Given the description of an element on the screen output the (x, y) to click on. 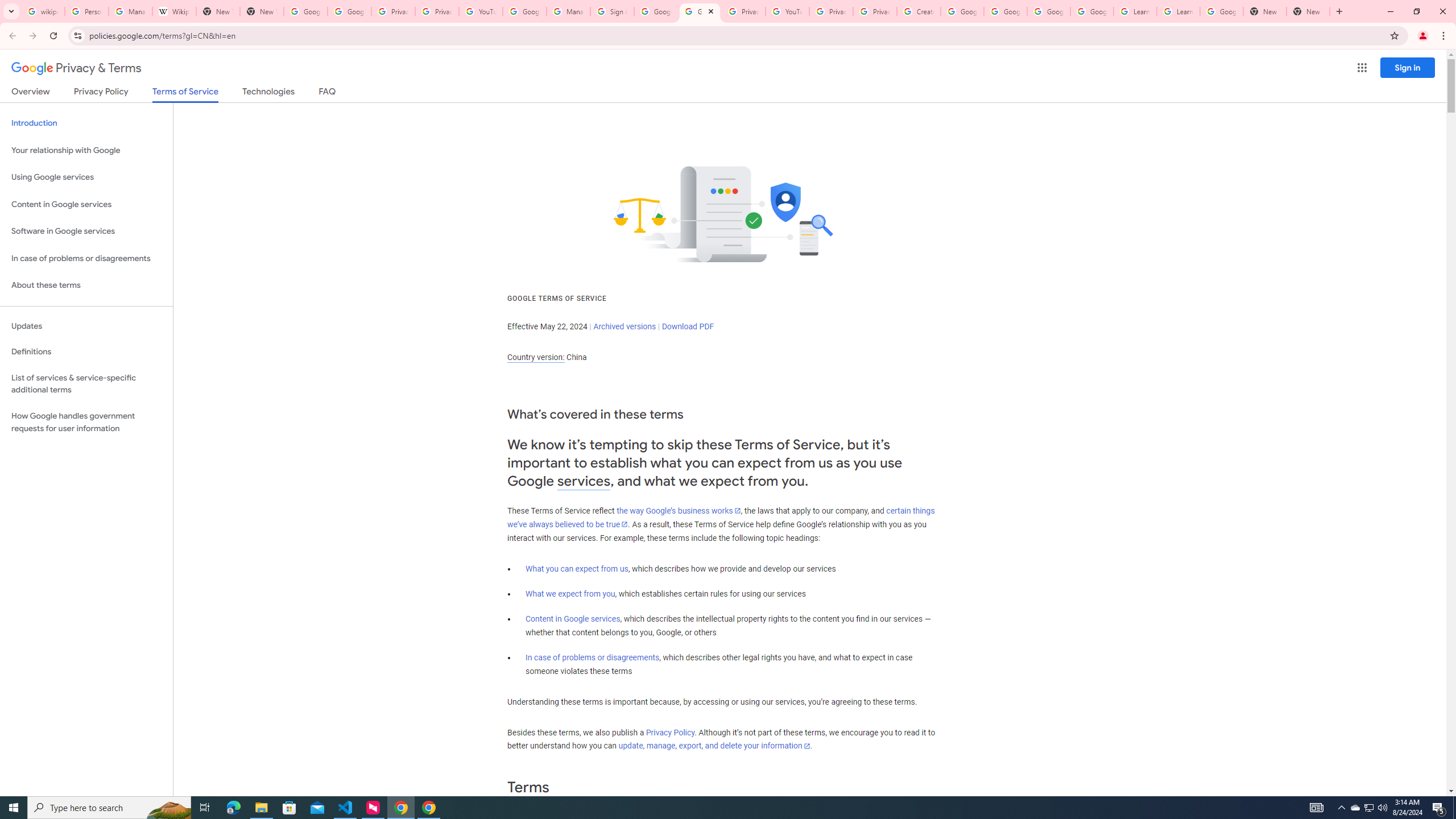
Privacy & Terms (76, 68)
Updates (86, 325)
New Tab (1264, 11)
YouTube (481, 11)
Your relationship with Google (86, 150)
